Given the description of an element on the screen output the (x, y) to click on. 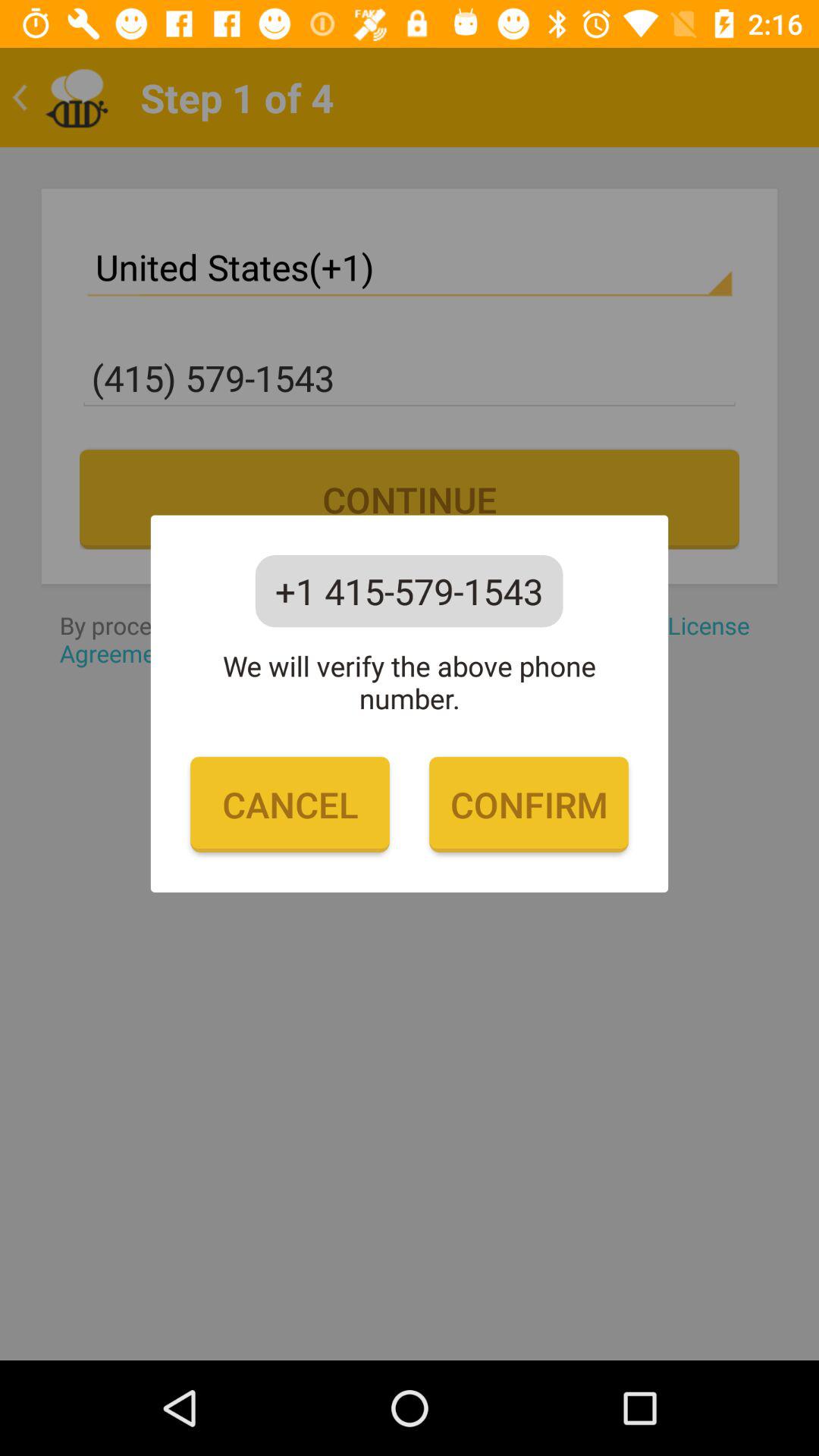
jump to confirm (528, 804)
